Given the description of an element on the screen output the (x, y) to click on. 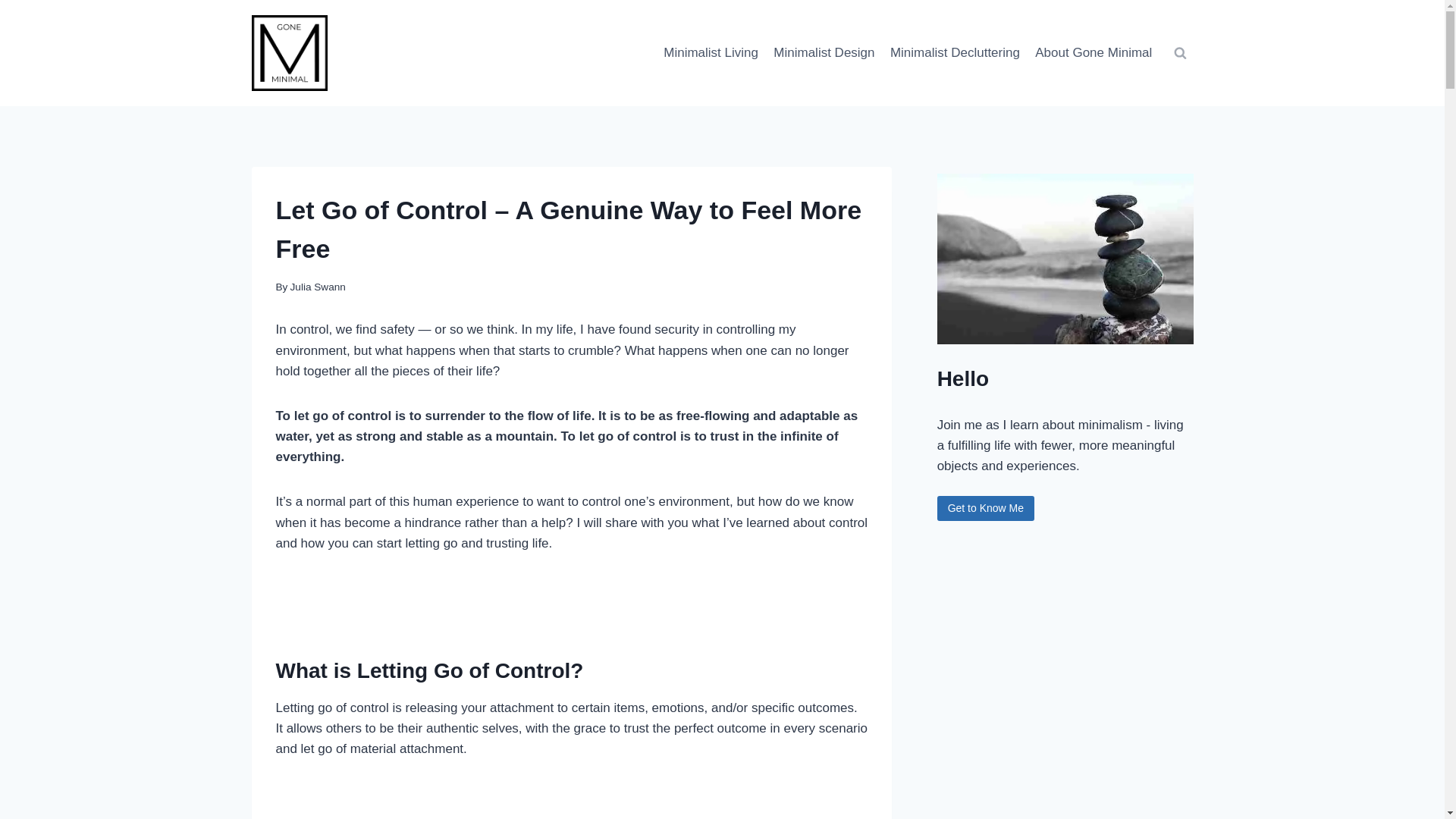
Julia Swann (317, 286)
Minimalist Decluttering (954, 53)
Minimalist Design (823, 53)
Minimalist Living (710, 53)
About Gone Minimal (1092, 53)
